Given the description of an element on the screen output the (x, y) to click on. 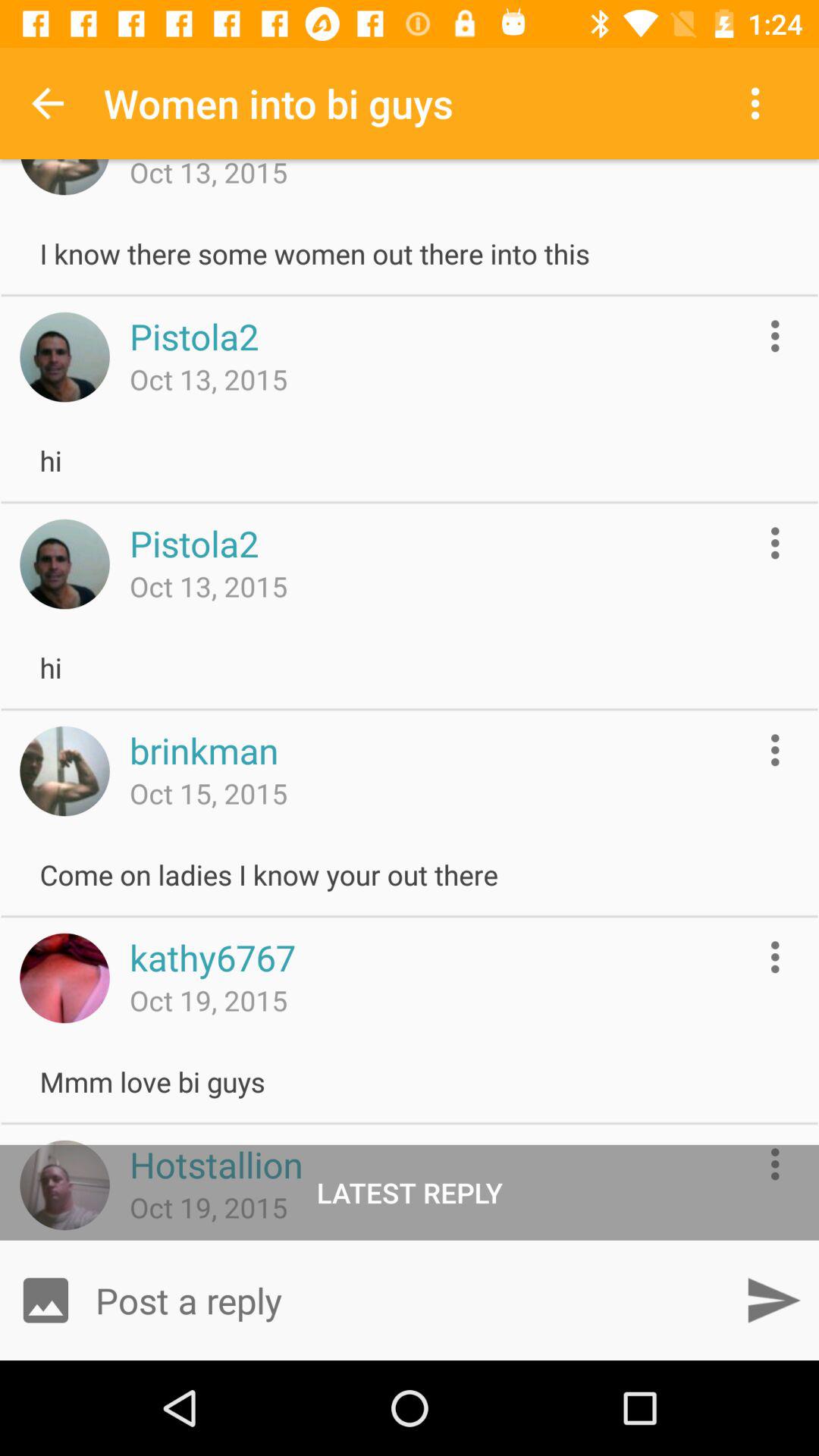
view more options (775, 336)
